Given the description of an element on the screen output the (x, y) to click on. 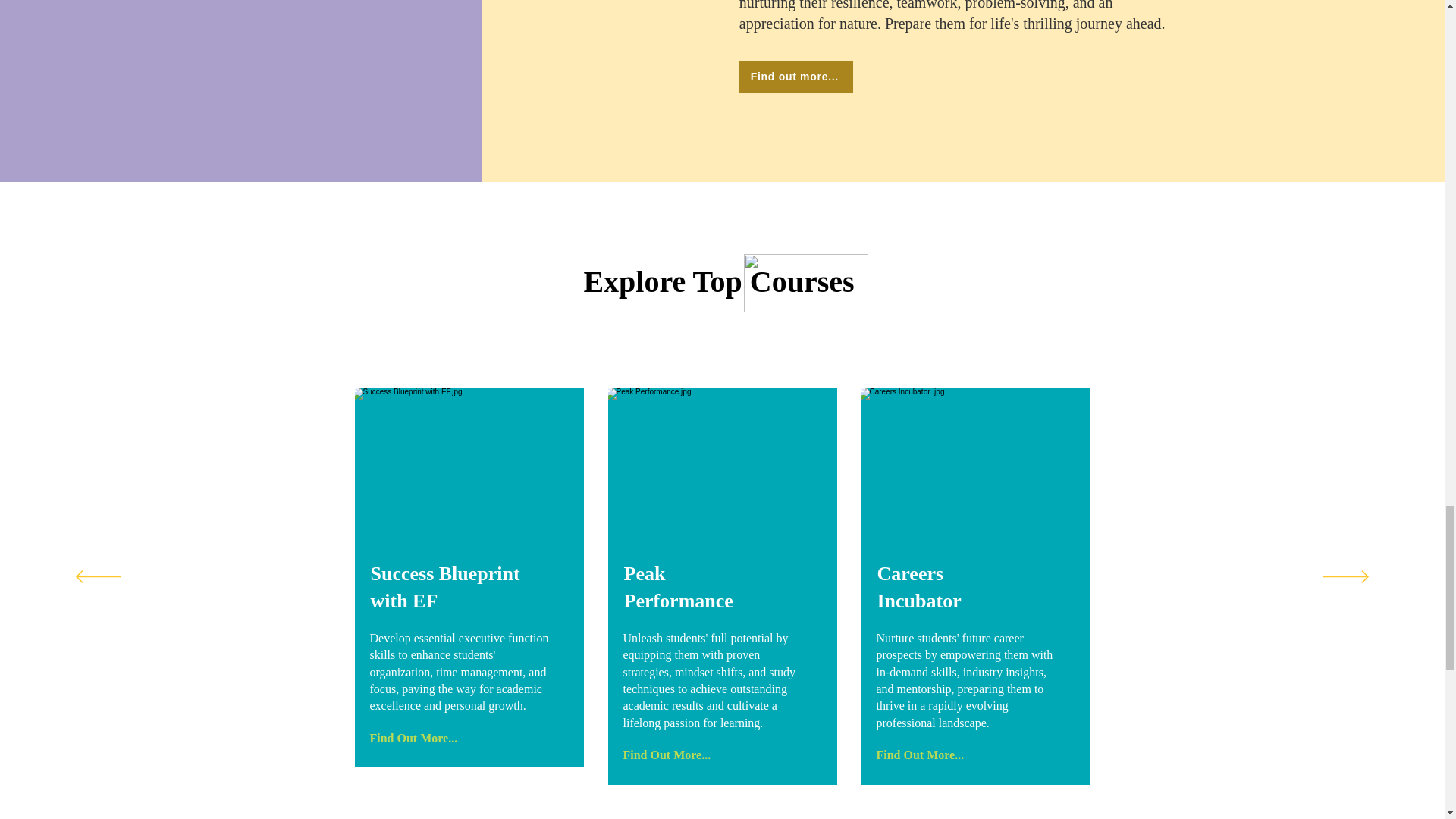
Find out more... (796, 76)
